Given the description of an element on the screen output the (x, y) to click on. 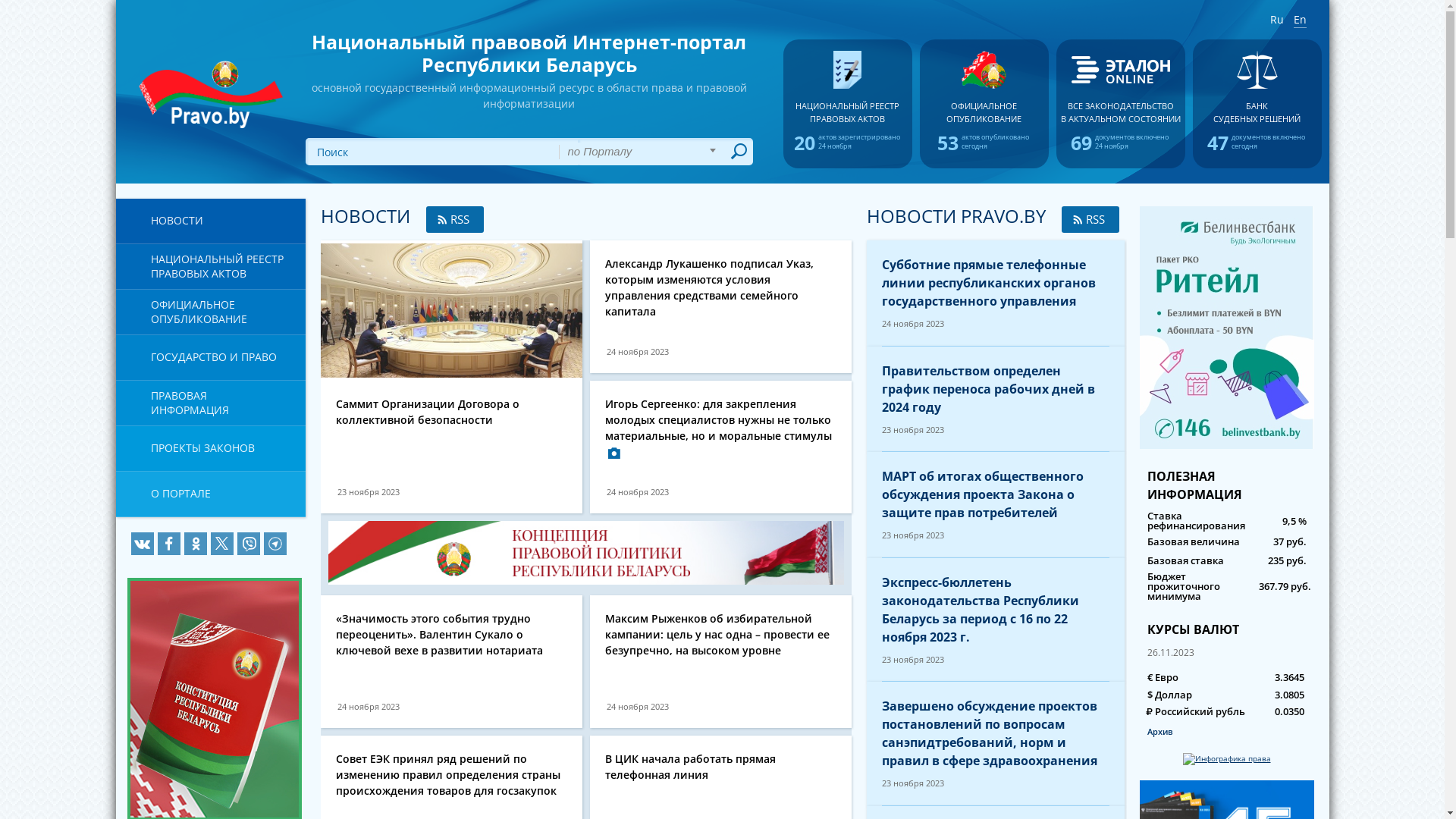
RSS Element type: text (1090, 219)
Ru Element type: text (1276, 19)
RSS Element type: text (455, 219)
En Element type: text (1299, 19)
